Given the description of an element on the screen output the (x, y) to click on. 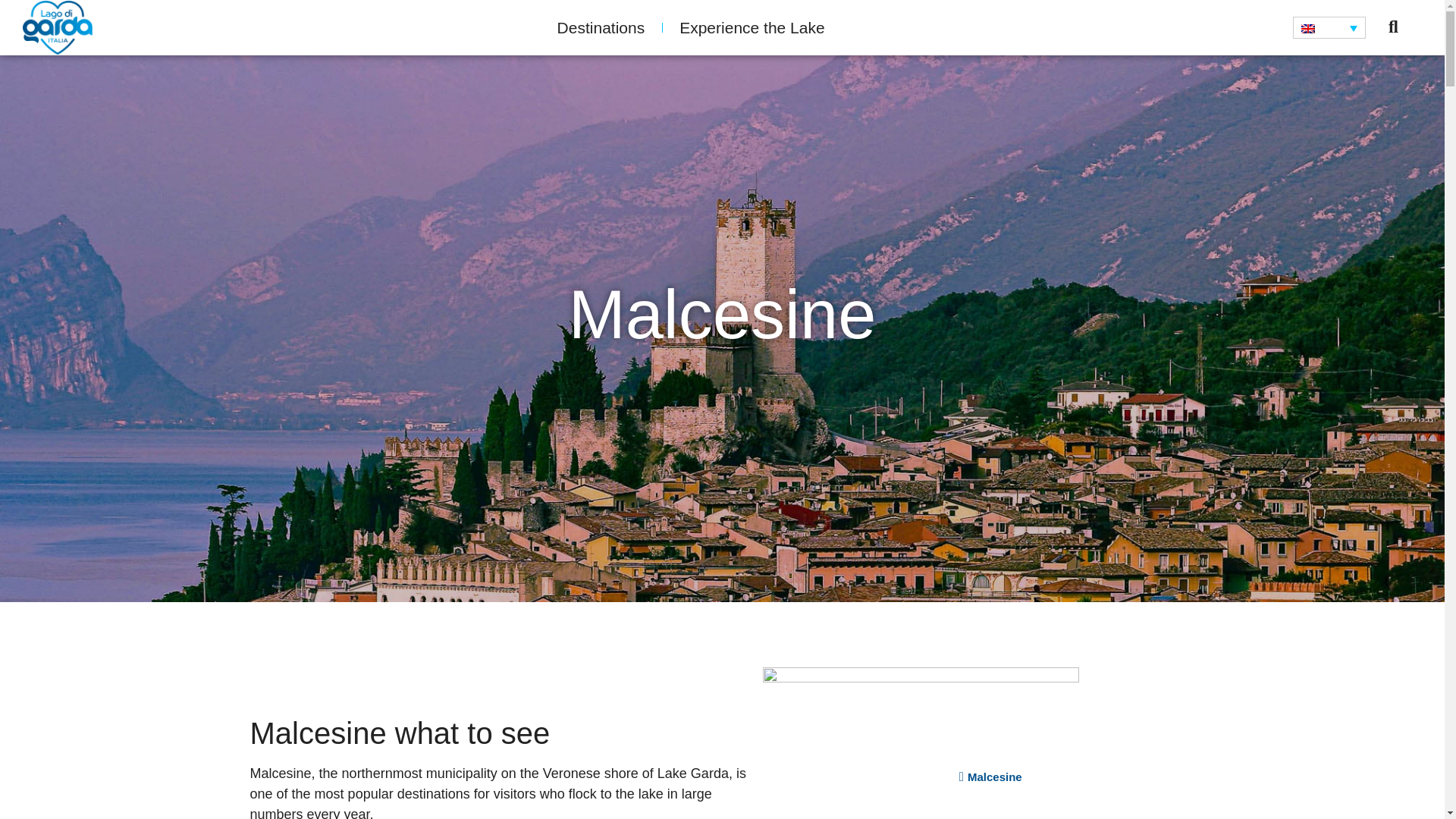
Destinations (601, 27)
Experience the Lake (751, 27)
